Given the description of an element on the screen output the (x, y) to click on. 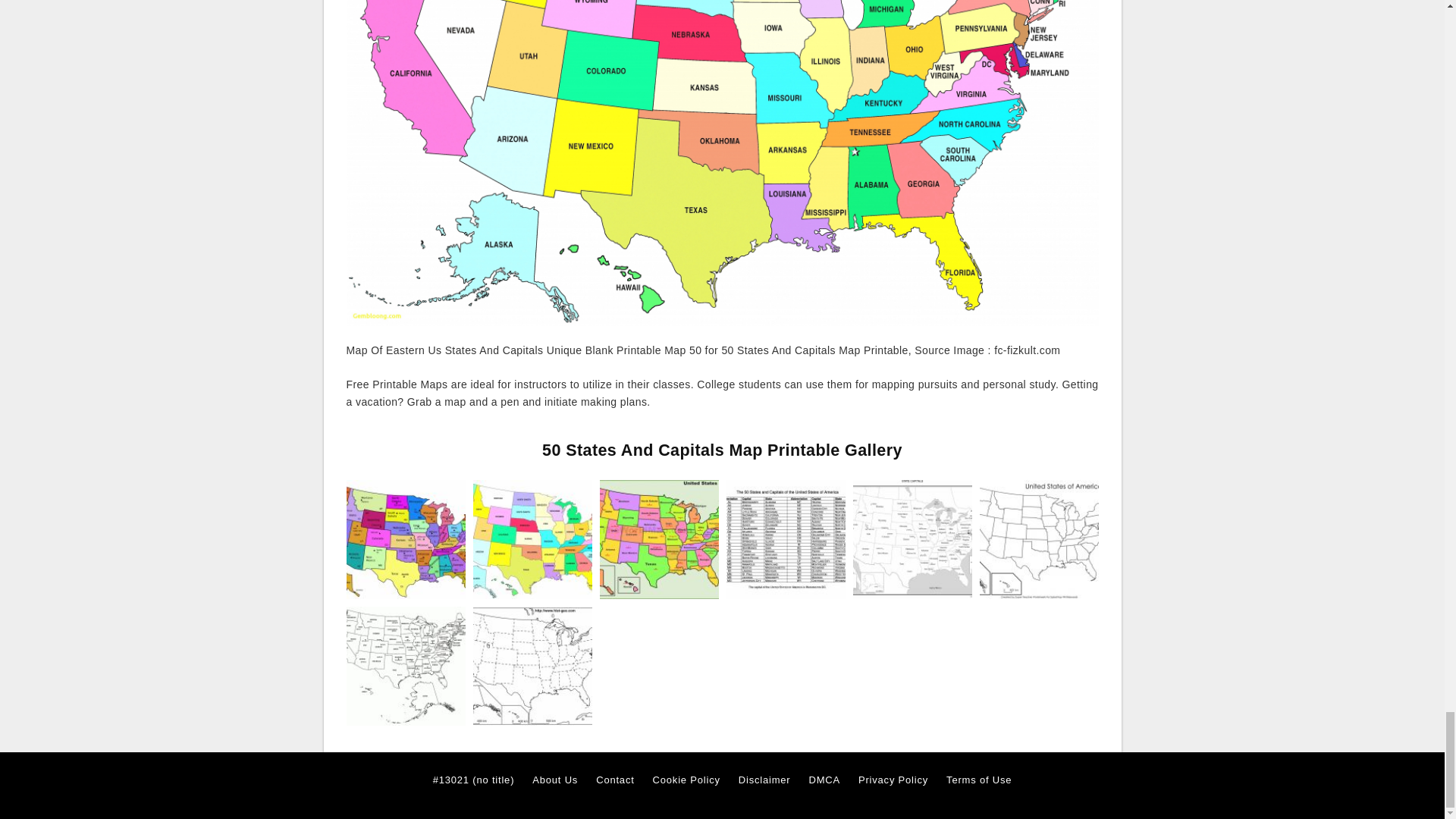
Cookie Policy (686, 780)
Privacy Policy (893, 780)
About Us (555, 780)
Disclaimer (764, 780)
DMCA (824, 780)
Terms of Use (978, 780)
Contact (614, 780)
